Given the description of an element on the screen output the (x, y) to click on. 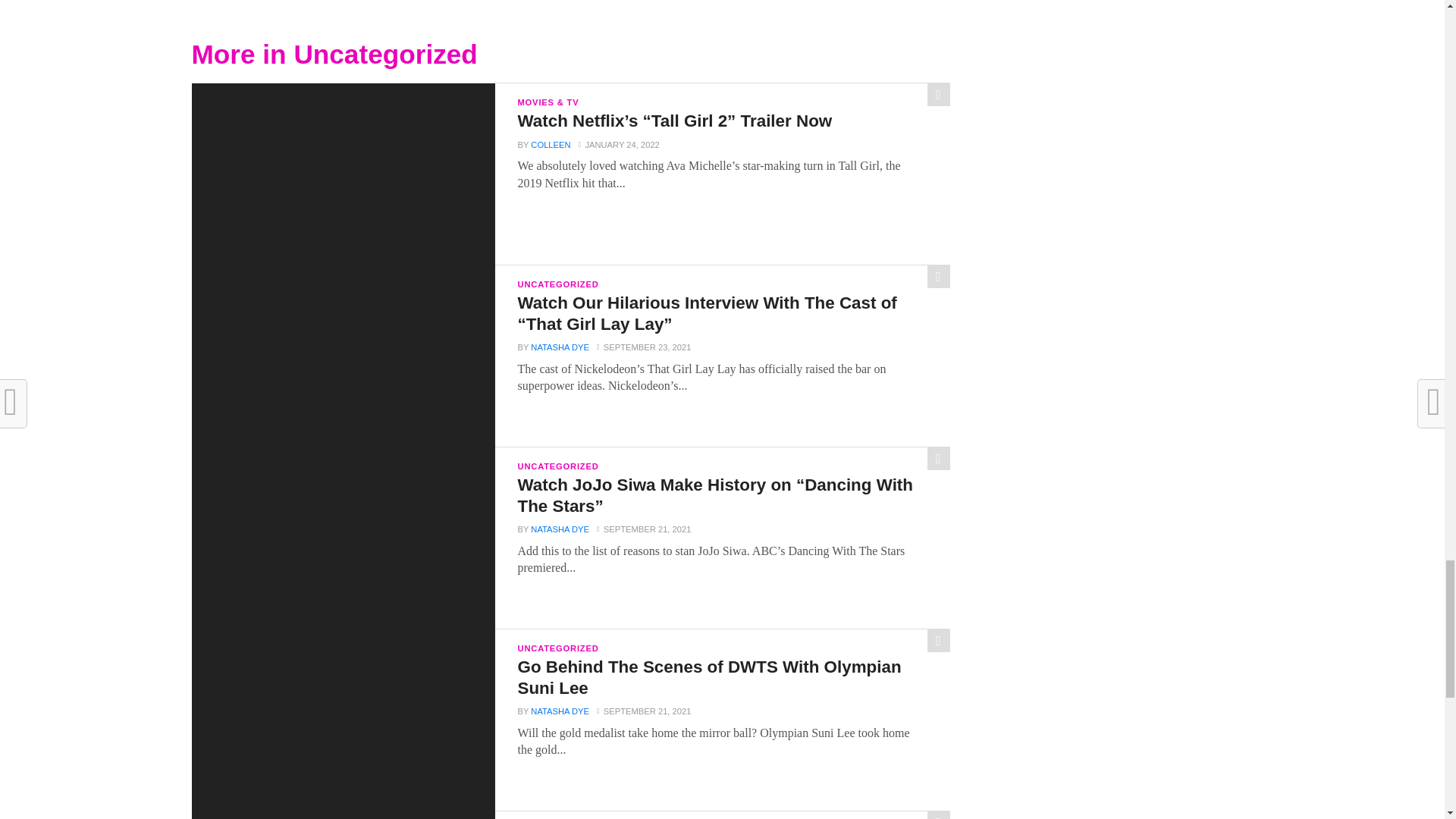
Posts by Natasha Dye (560, 347)
Posts by Natasha Dye (560, 528)
Posts by colleen (550, 144)
